Given the description of an element on the screen output the (x, y) to click on. 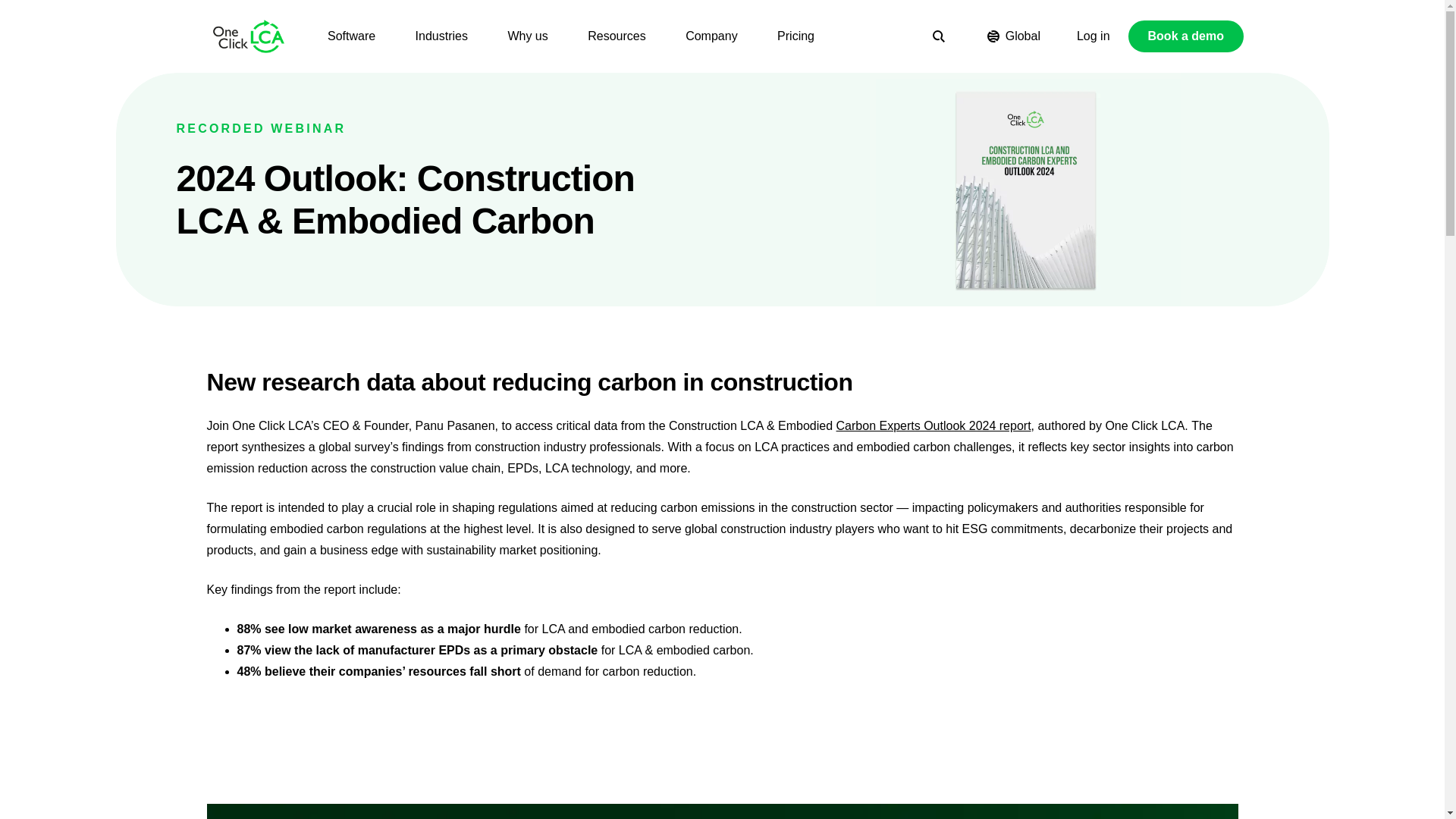
Resources (616, 36)
